Given the description of an element on the screen output the (x, y) to click on. 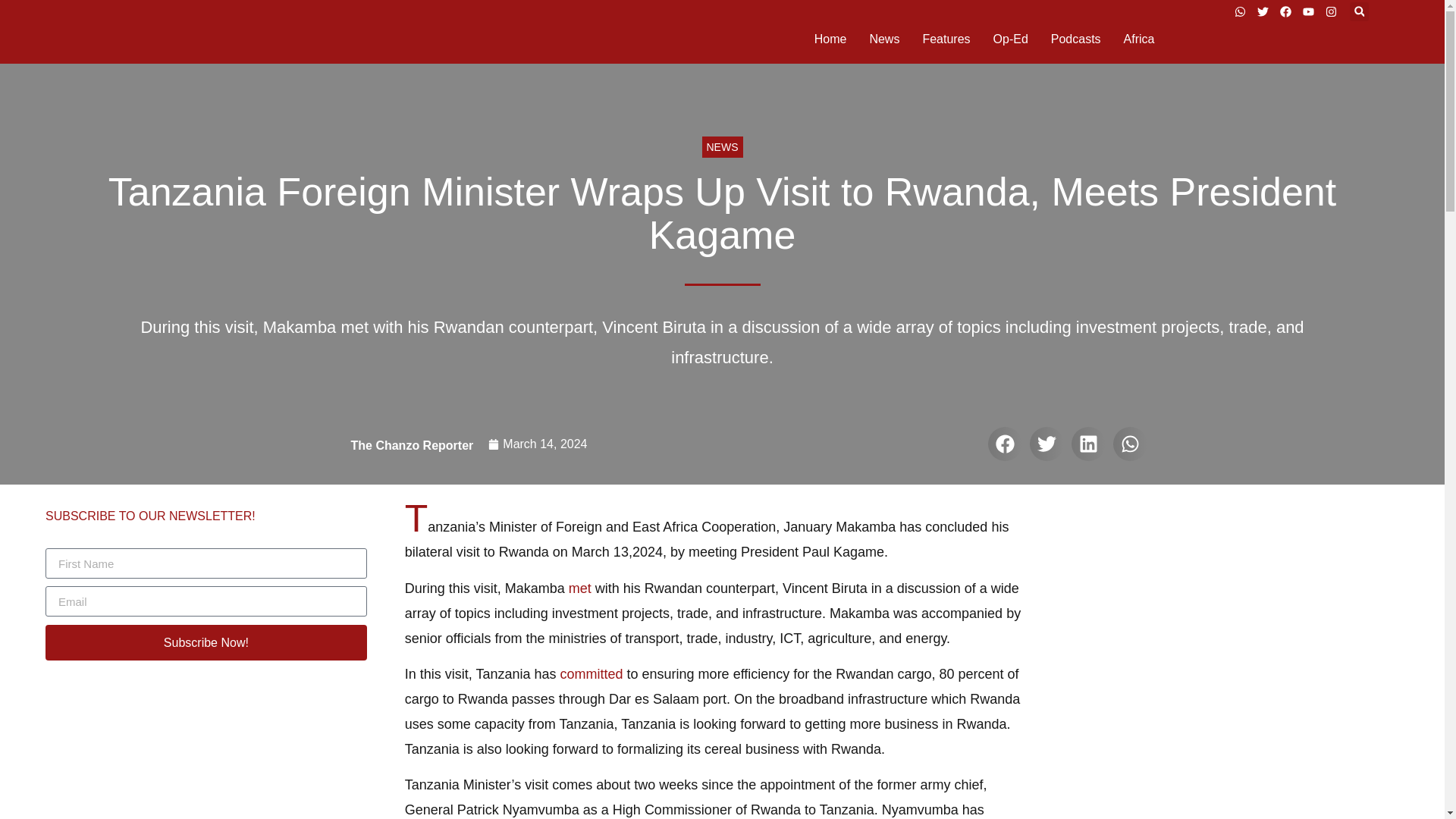
Features (945, 39)
Home (830, 39)
NEWS (721, 147)
Podcasts (1075, 39)
News (884, 39)
The Chanzo Reporter (411, 445)
Africa (1139, 39)
Op-Ed (1009, 39)
